Given the description of an element on the screen output the (x, y) to click on. 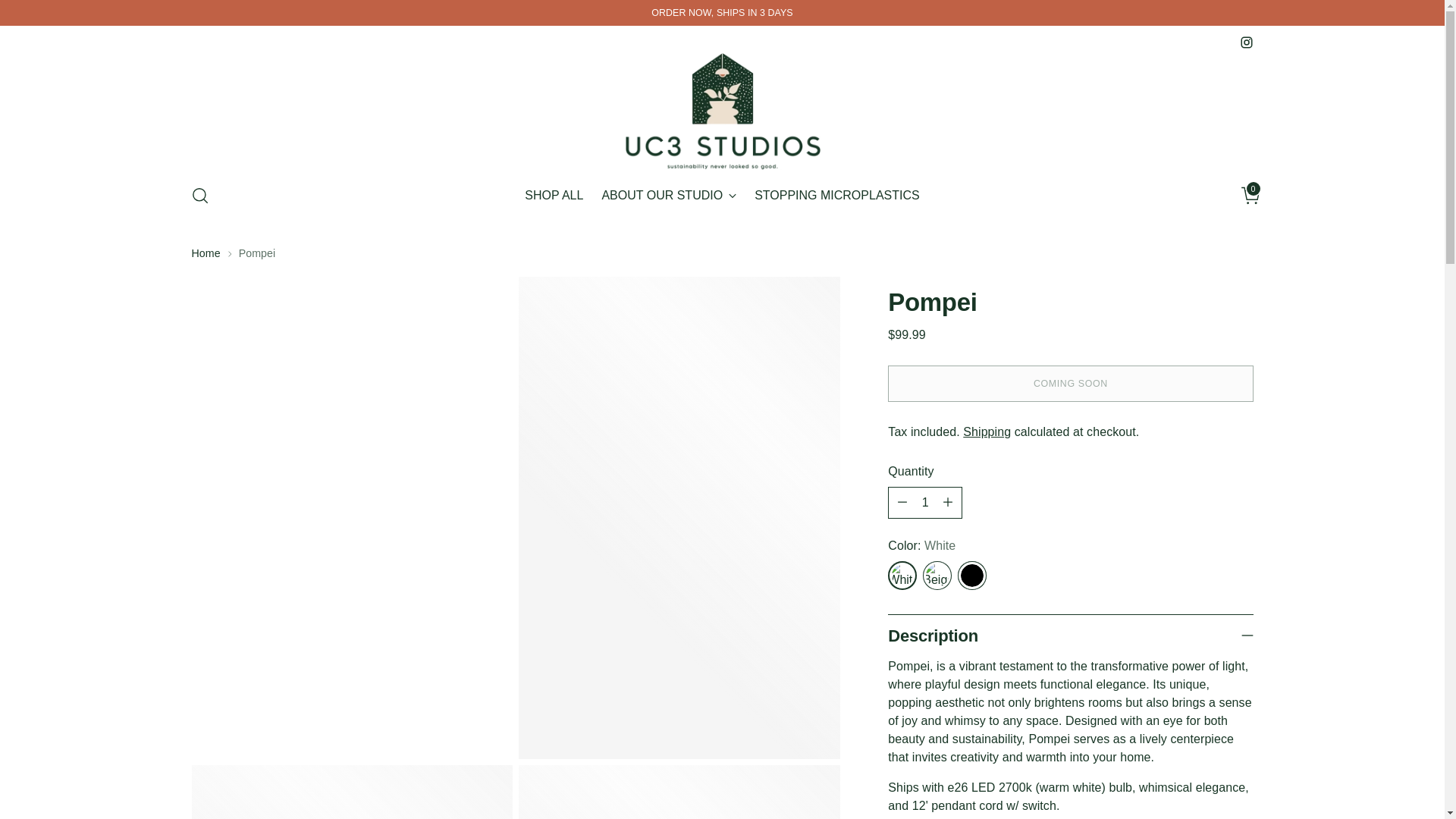
SHOP ALL (553, 195)
UC3 Studios on Instagram (1245, 42)
ABOUT OUR STUDIO (668, 195)
STOPPING MICROPLASTICS (837, 195)
0 (1245, 195)
1 (722, 195)
